Given the description of an element on the screen output the (x, y) to click on. 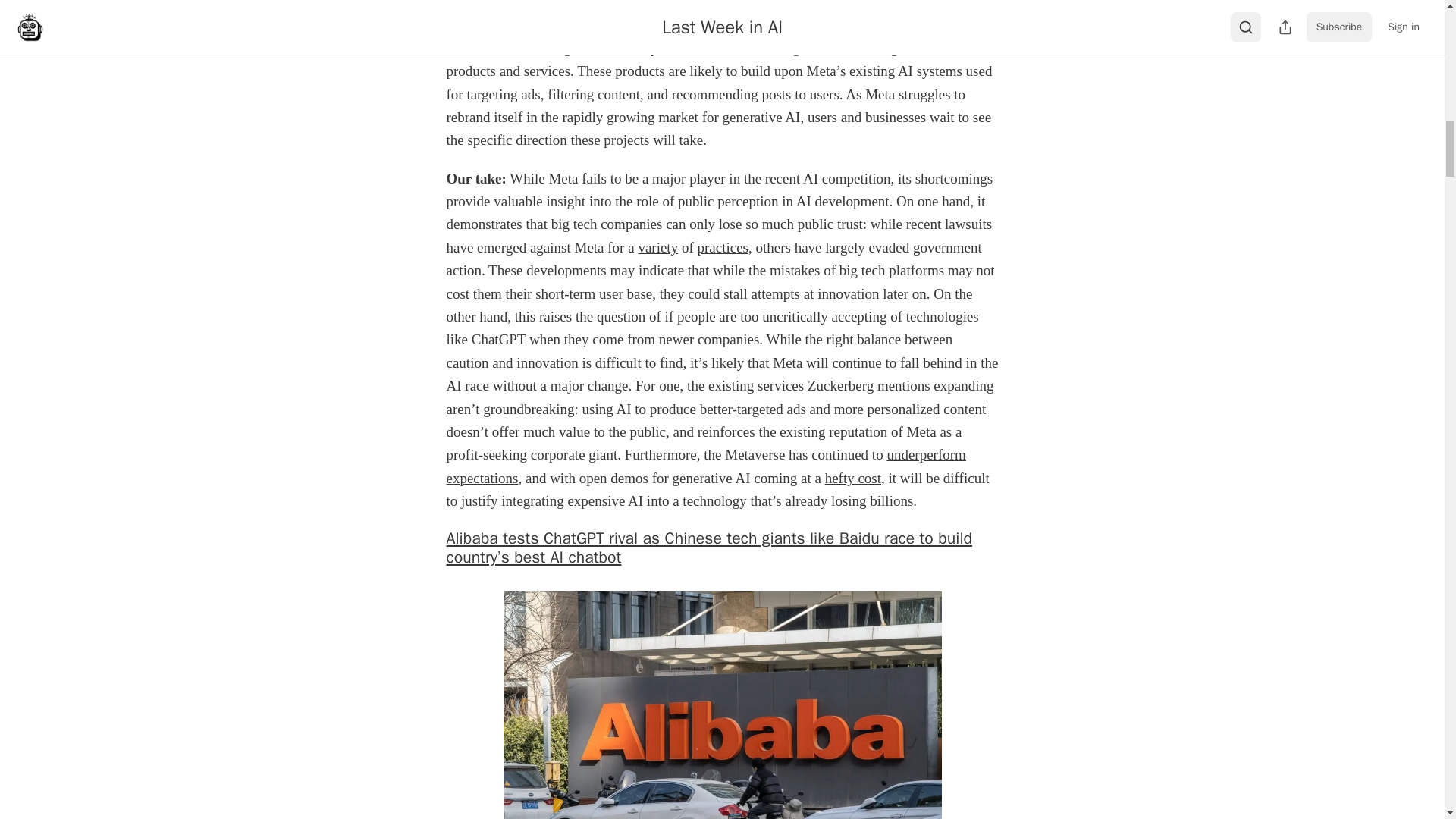
losing billions (871, 500)
underperform expectations (705, 465)
hefty cost (852, 478)
The Alibaba office in Beijing. Photo: Bloomberg (722, 705)
variety (657, 247)
practices (722, 247)
